Given the description of an element on the screen output the (x, y) to click on. 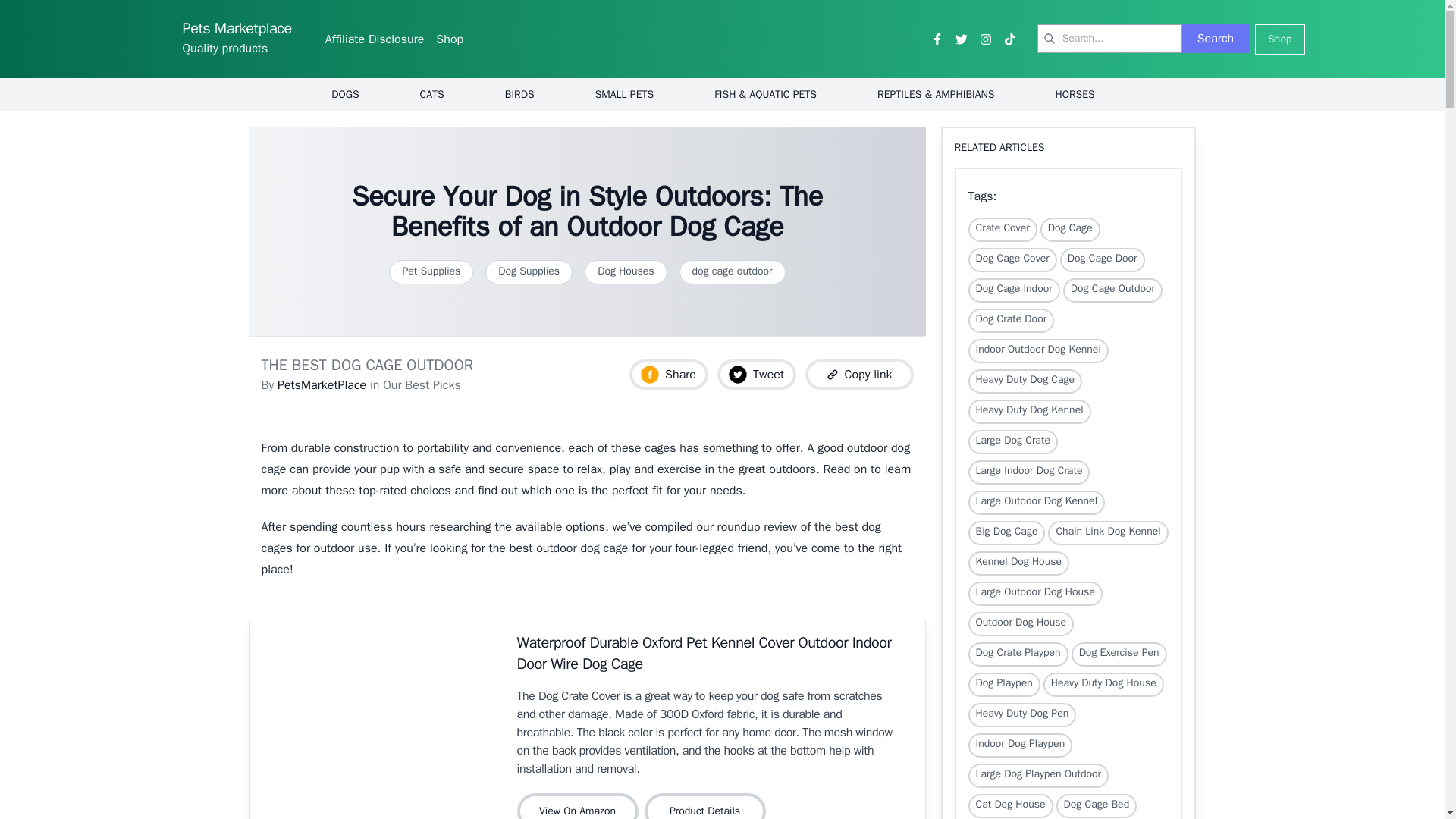
Dog Houses (625, 272)
SMALL PETS (624, 93)
PetsMarketPlace (322, 385)
DOGS (344, 93)
View On Amazon (580, 806)
Dog Supplies (528, 272)
Affiliate Disclosure (374, 39)
Pet Supplies (430, 272)
Share (667, 374)
Search (1215, 38)
